Given the description of an element on the screen output the (x, y) to click on. 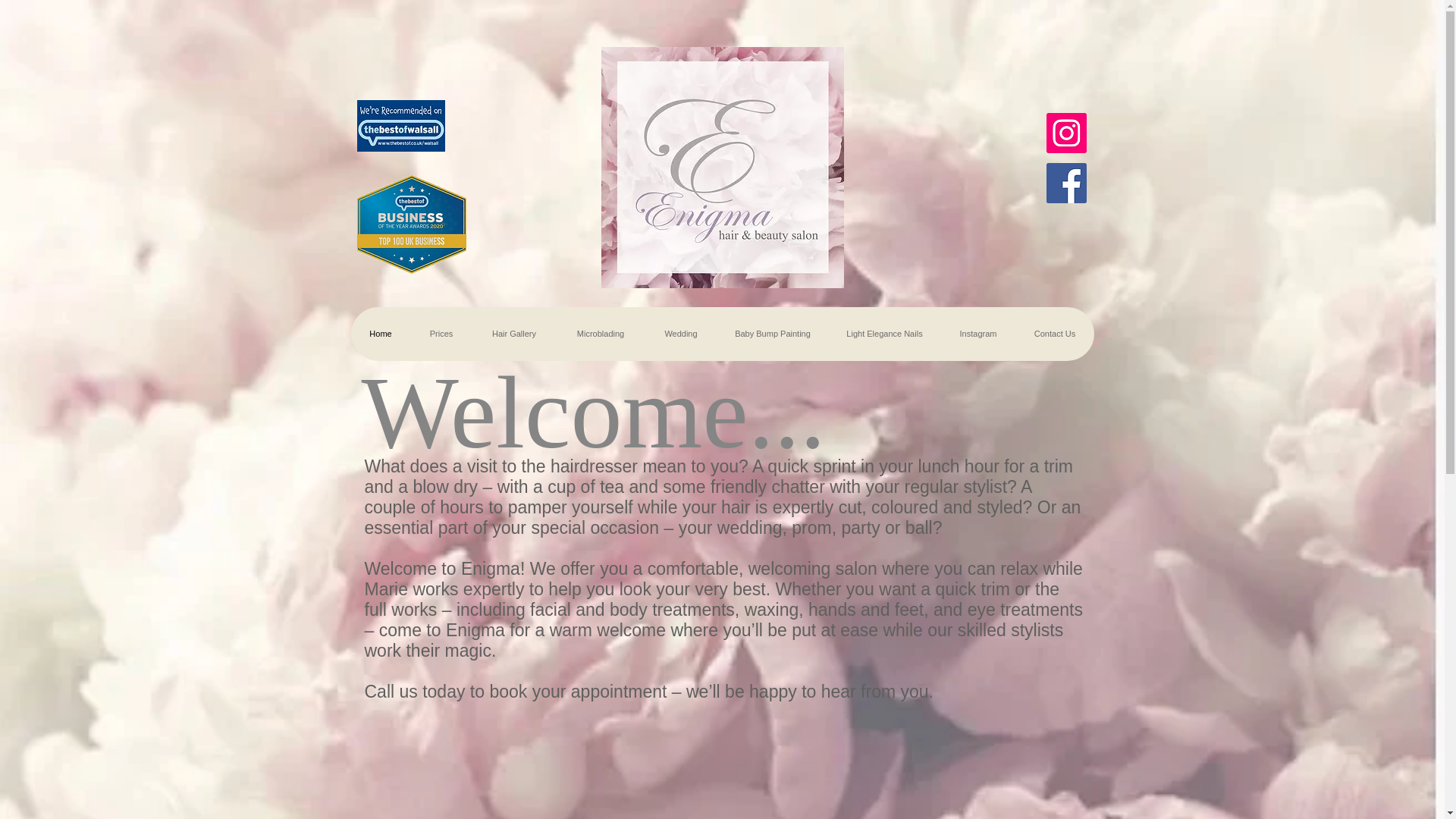
Hair Gallery (513, 334)
Contact Us (1053, 334)
Instagram (977, 334)
Light Elegance Nails (884, 334)
Home (380, 334)
Baby Bump Painting (772, 334)
